Given the description of an element on the screen output the (x, y) to click on. 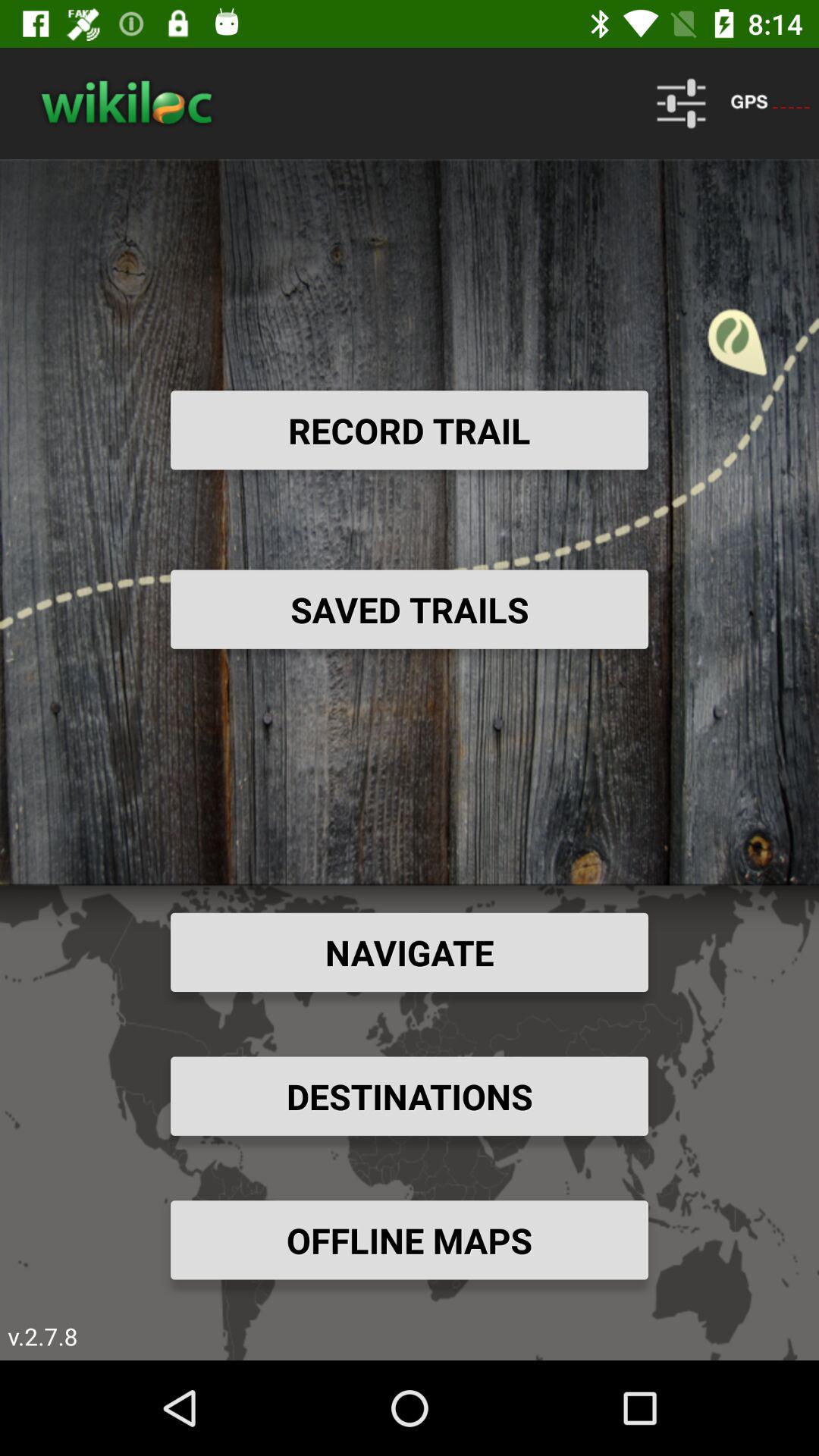
turn off the destinations (409, 1095)
